Given the description of an element on the screen output the (x, y) to click on. 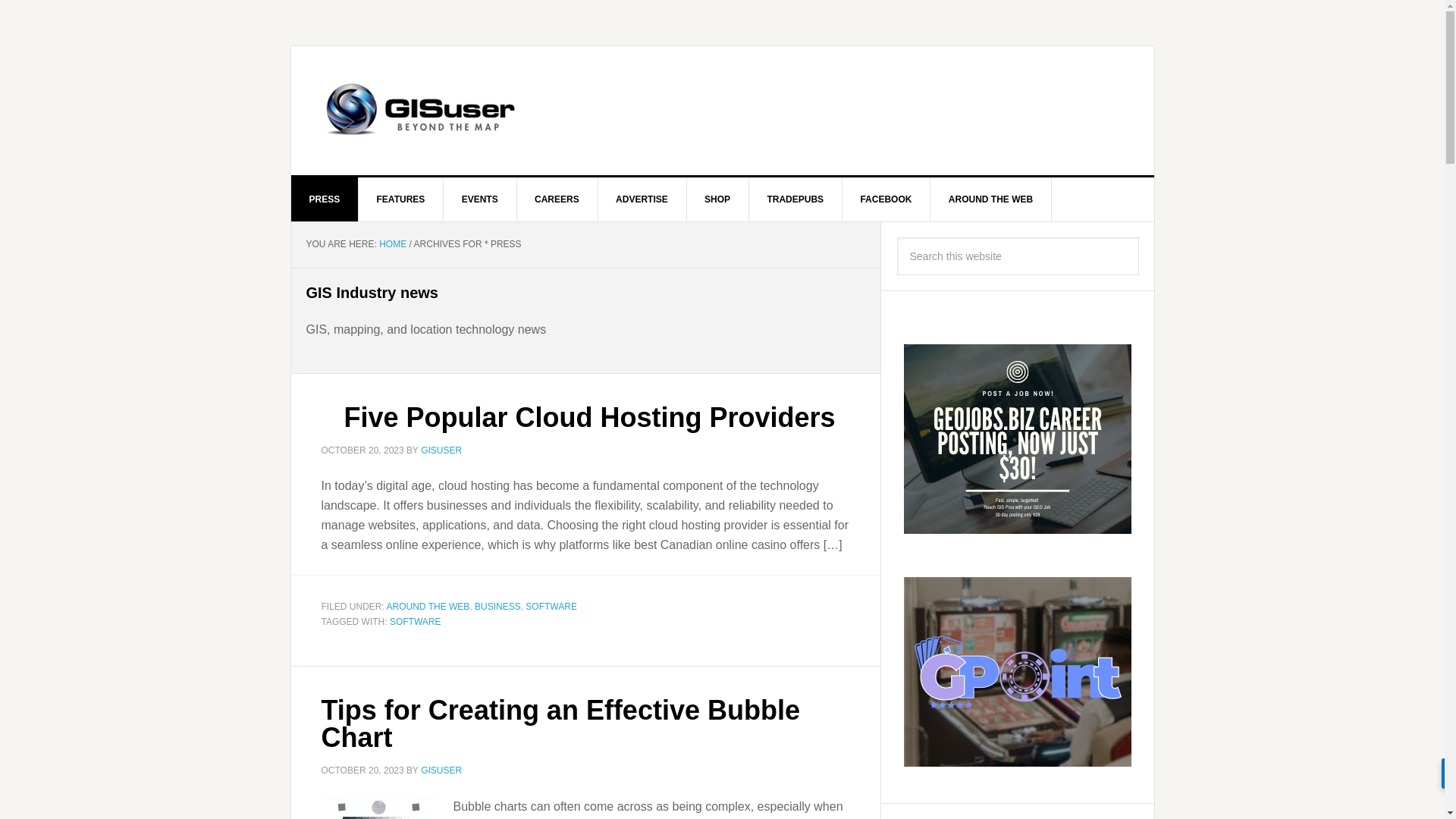
Tips for Creating an Effective Bubble Chart (560, 723)
FEATURES (401, 199)
FACEBOOK (885, 199)
GISUSER (440, 769)
GISUSER (440, 449)
SOFTWARE (415, 620)
BUSINESS (497, 606)
shop (717, 199)
TRADEPUBS (795, 199)
